Given the description of an element on the screen output the (x, y) to click on. 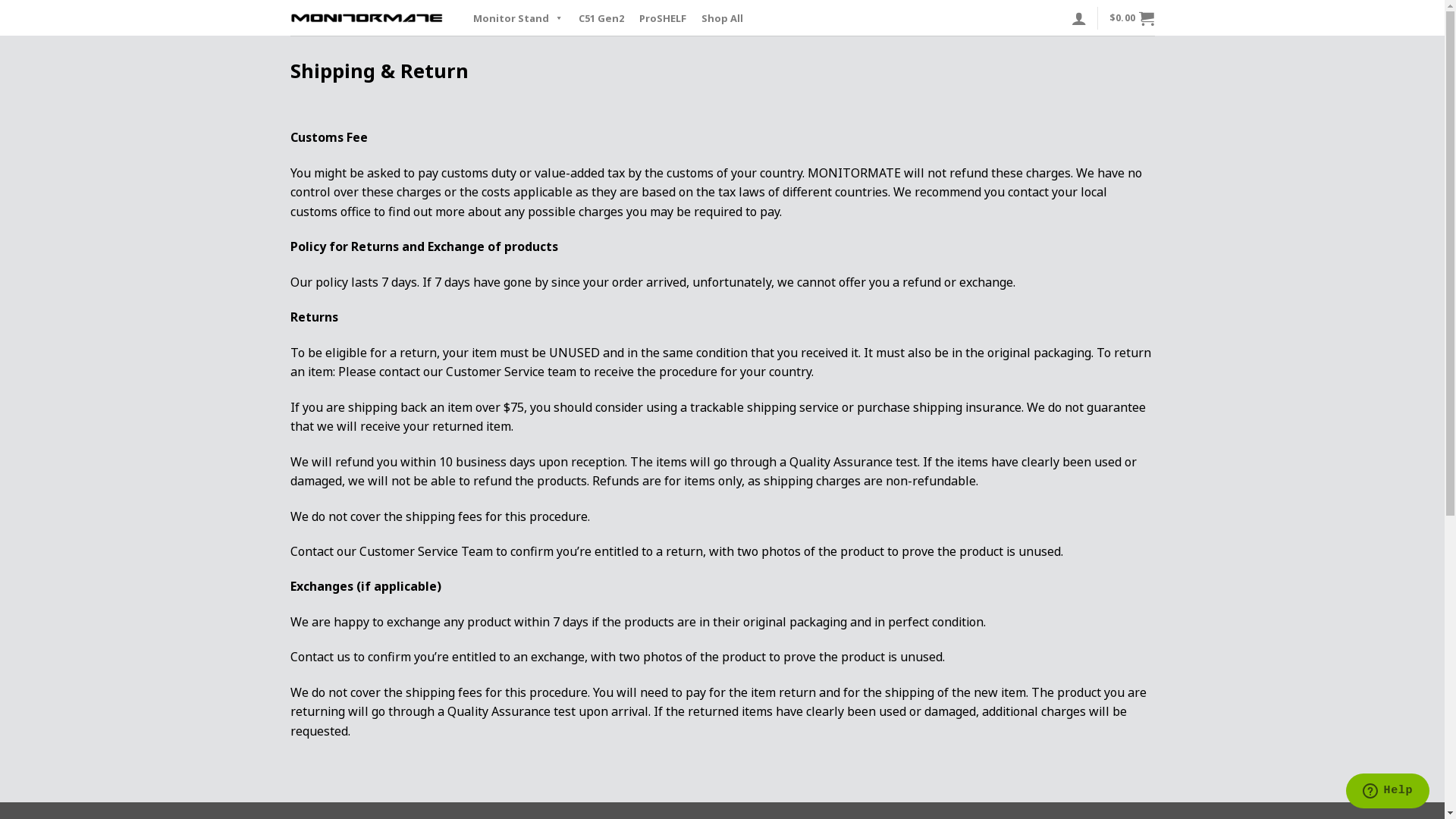
Shop All Element type: text (721, 18)
ProSHELF Element type: text (661, 18)
Monitor Stand Element type: text (518, 18)
Customer Service team Element type: text (510, 371)
C51 Gen2 Element type: text (600, 18)
Opens a widget where you can find more information Element type: hover (1387, 792)
MONITORMATE - Brings simplicity back to your desk Element type: hover (365, 17)
$0.00 Element type: text (1131, 17)
